Given the description of an element on the screen output the (x, y) to click on. 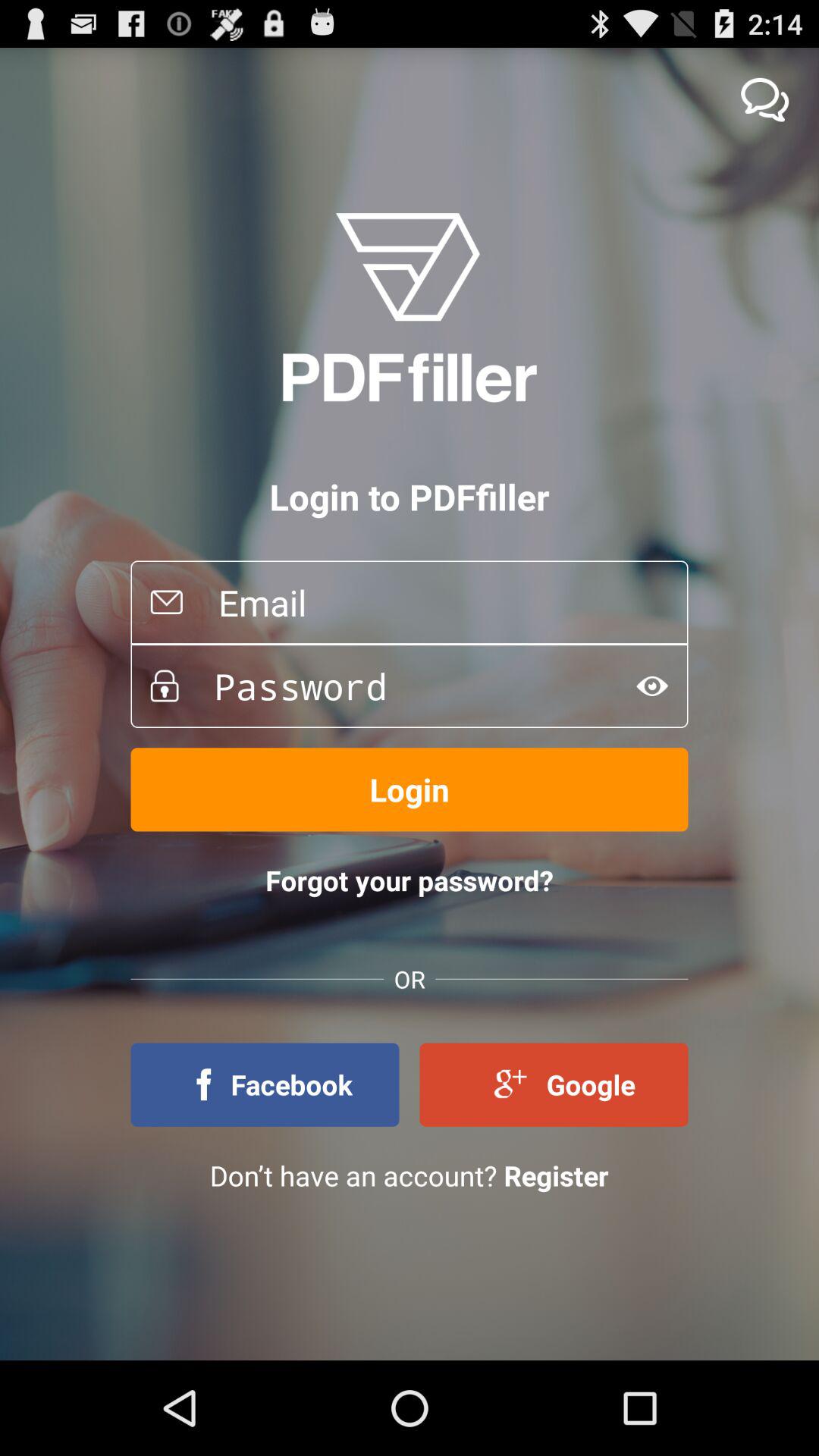
click to chat (764, 99)
